Given the description of an element on the screen output the (x, y) to click on. 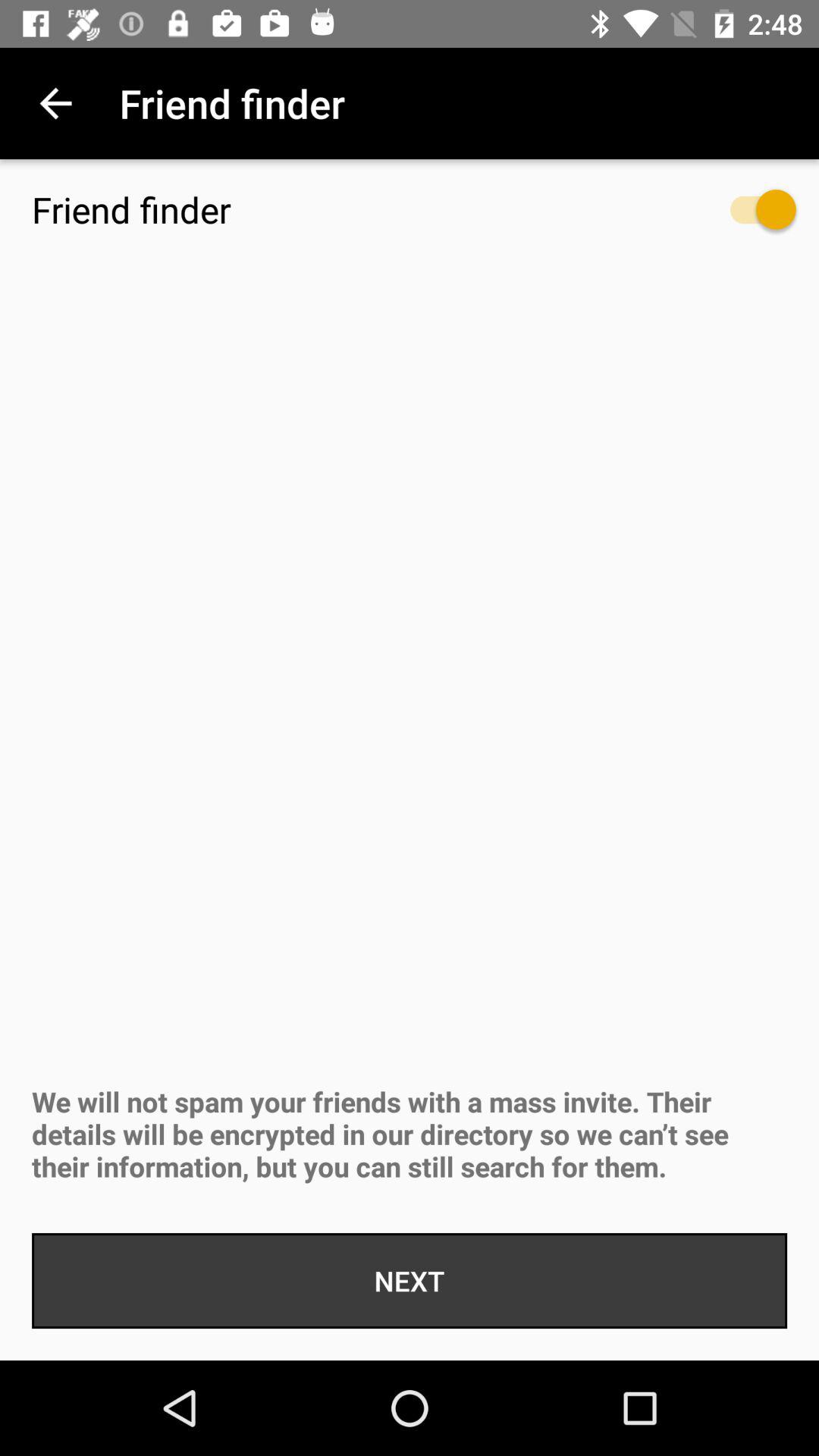
launch item below the enable friend finder item (747, 217)
